Given the description of an element on the screen output the (x, y) to click on. 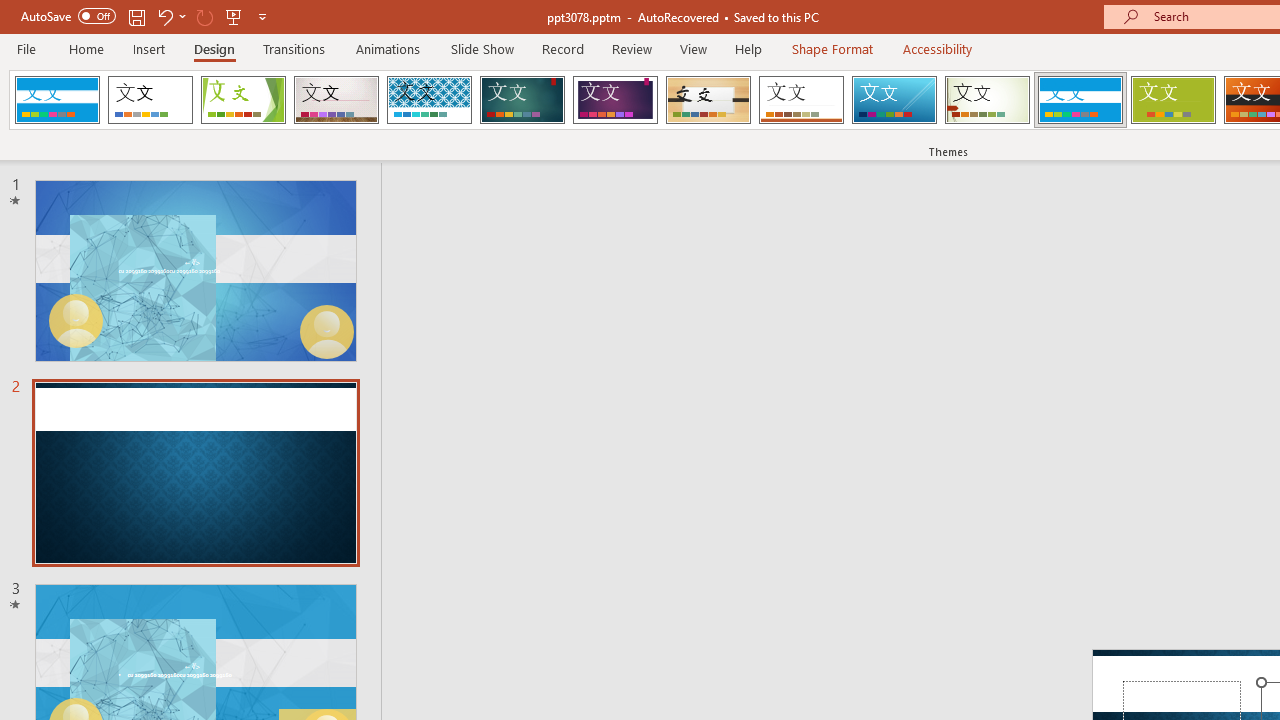
Organic (708, 100)
Office Theme (150, 100)
Basis (1172, 100)
